Given the description of an element on the screen output the (x, y) to click on. 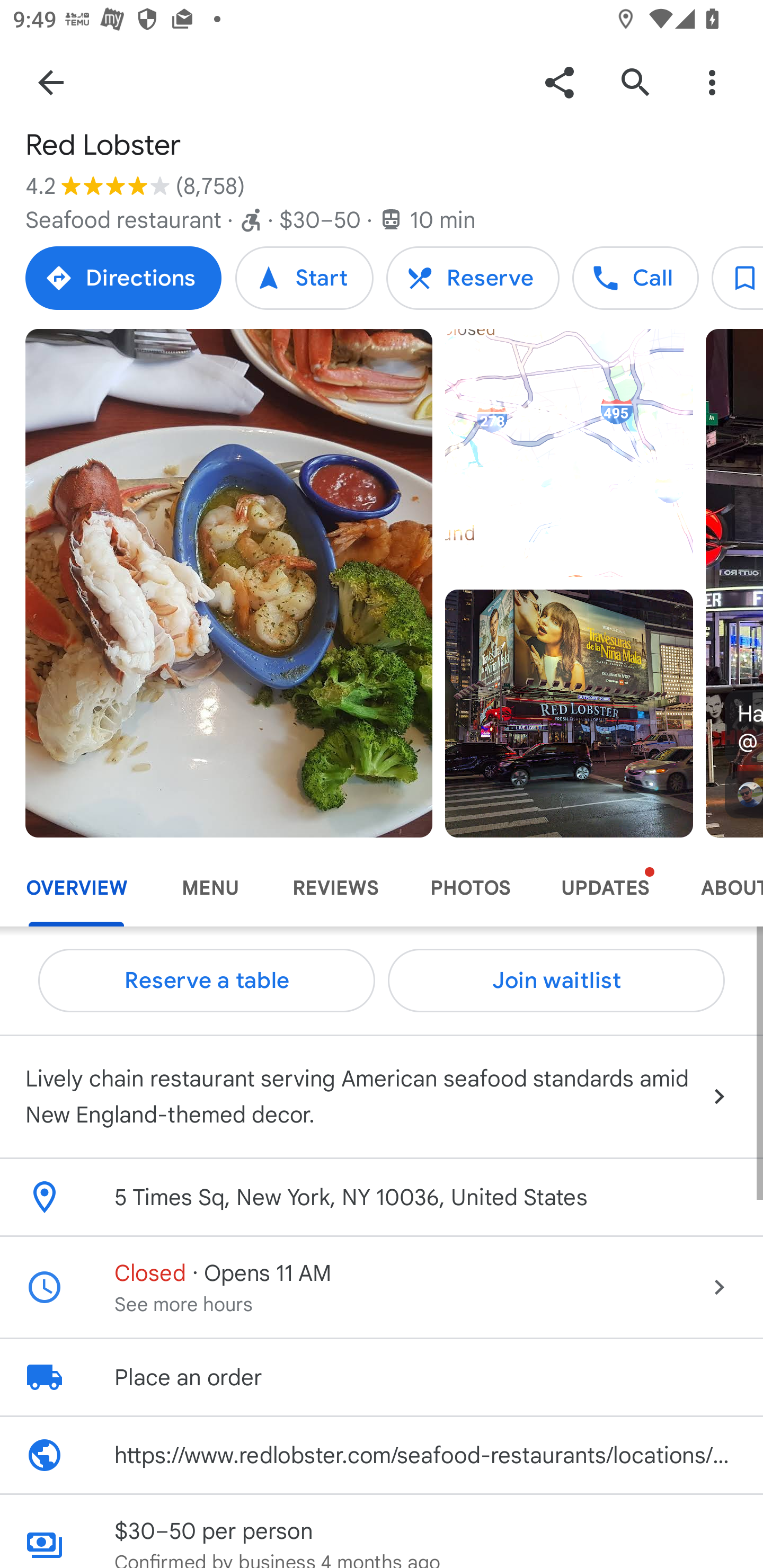
Back to Search (50, 81)
Share (559, 81)
Search (635, 81)
More options for Red Lobster (711, 81)
Start Start Start (304, 277)
Reserve a table Reserve Reserve a table (472, 277)
Photo (228, 583)
Video (568, 453)
Photo (568, 713)
MENU Menu (209, 887)
REVIEWS Reviews (335, 887)
PHOTOS Photos (469, 887)
UPDATES Updates New updates in Updates (605, 887)
ABOUT About (719, 887)
Reserve a table Reserve a table Reserve a table (206, 980)
Join waitlist Join waitlist Join waitlist (555, 980)
Place an order (381, 1377)
